Given the description of an element on the screen output the (x, y) to click on. 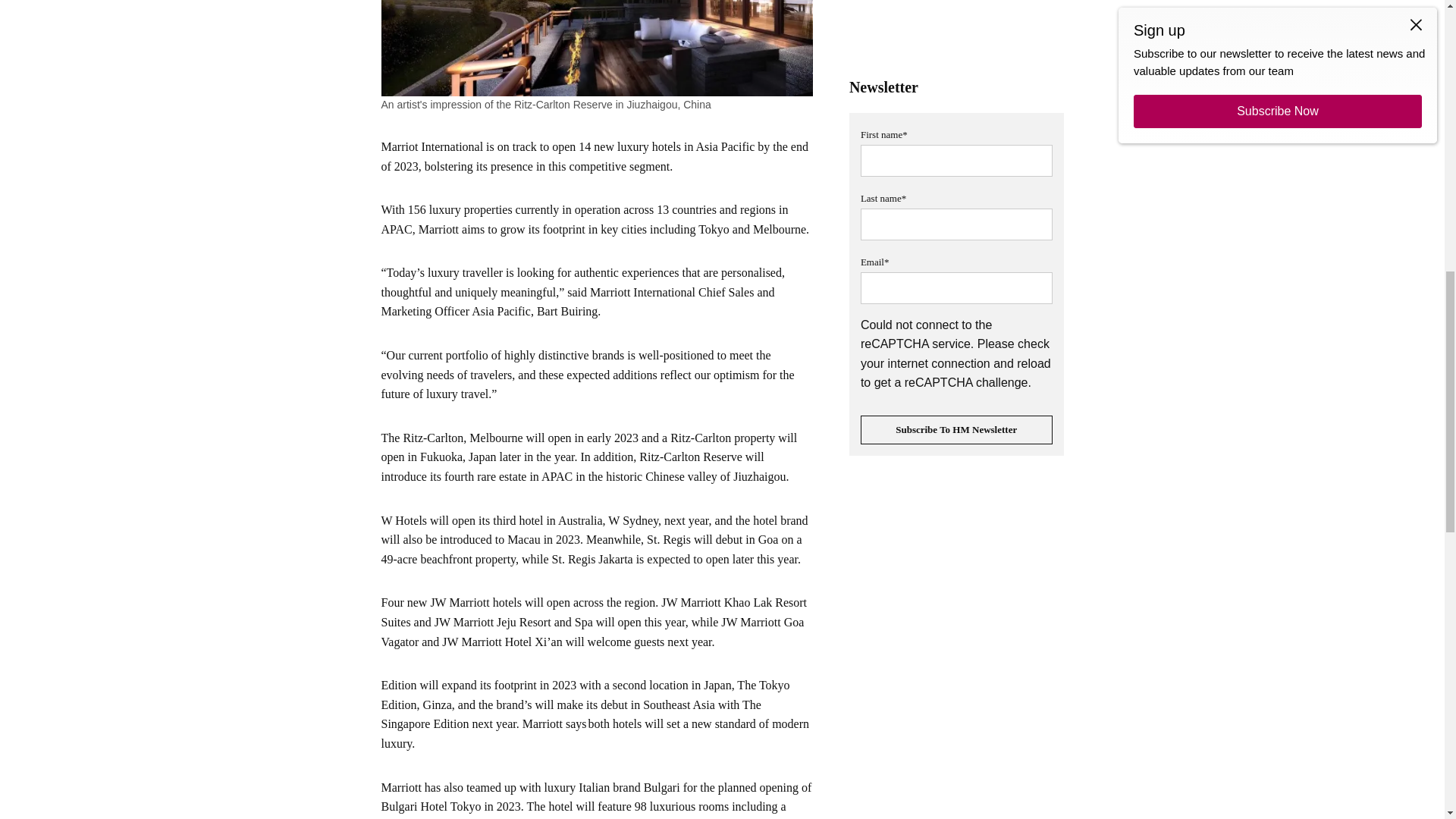
Subscribe to HM Newsletter (956, 429)
3rd party ad content (956, 27)
